Given the description of an element on the screen output the (x, y) to click on. 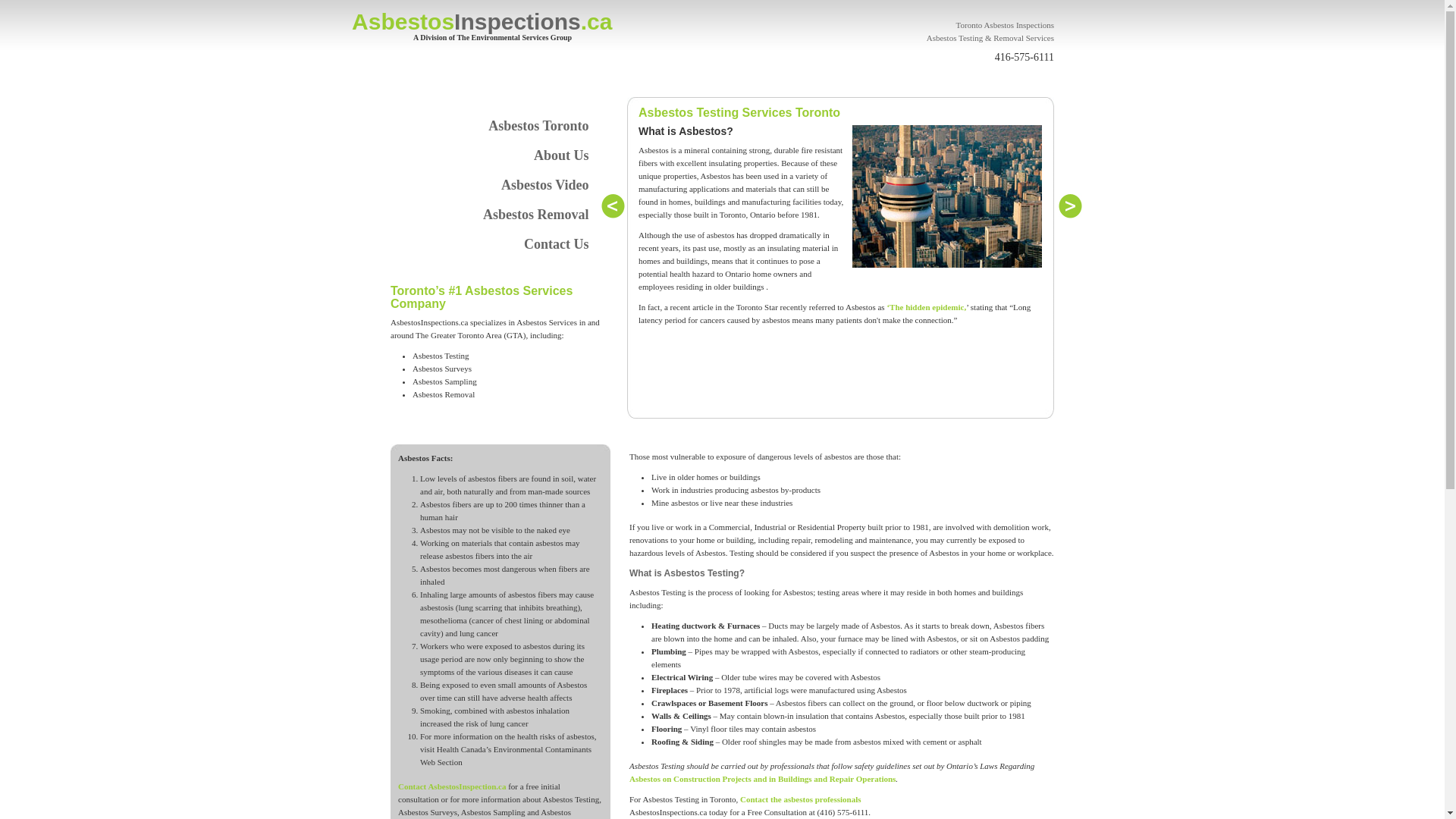
Contact Us Element type: text (493, 244)
About Us Element type: text (493, 155)
Asbestos Removal Element type: text (493, 214)
Contact AsbestosInspection.ca Element type: text (453, 785)
Asbestos Video Element type: text (493, 184)
Contact the asbestos professionals Element type: text (800, 798)
Asbestos Toronto Element type: text (493, 125)
